Given the description of an element on the screen output the (x, y) to click on. 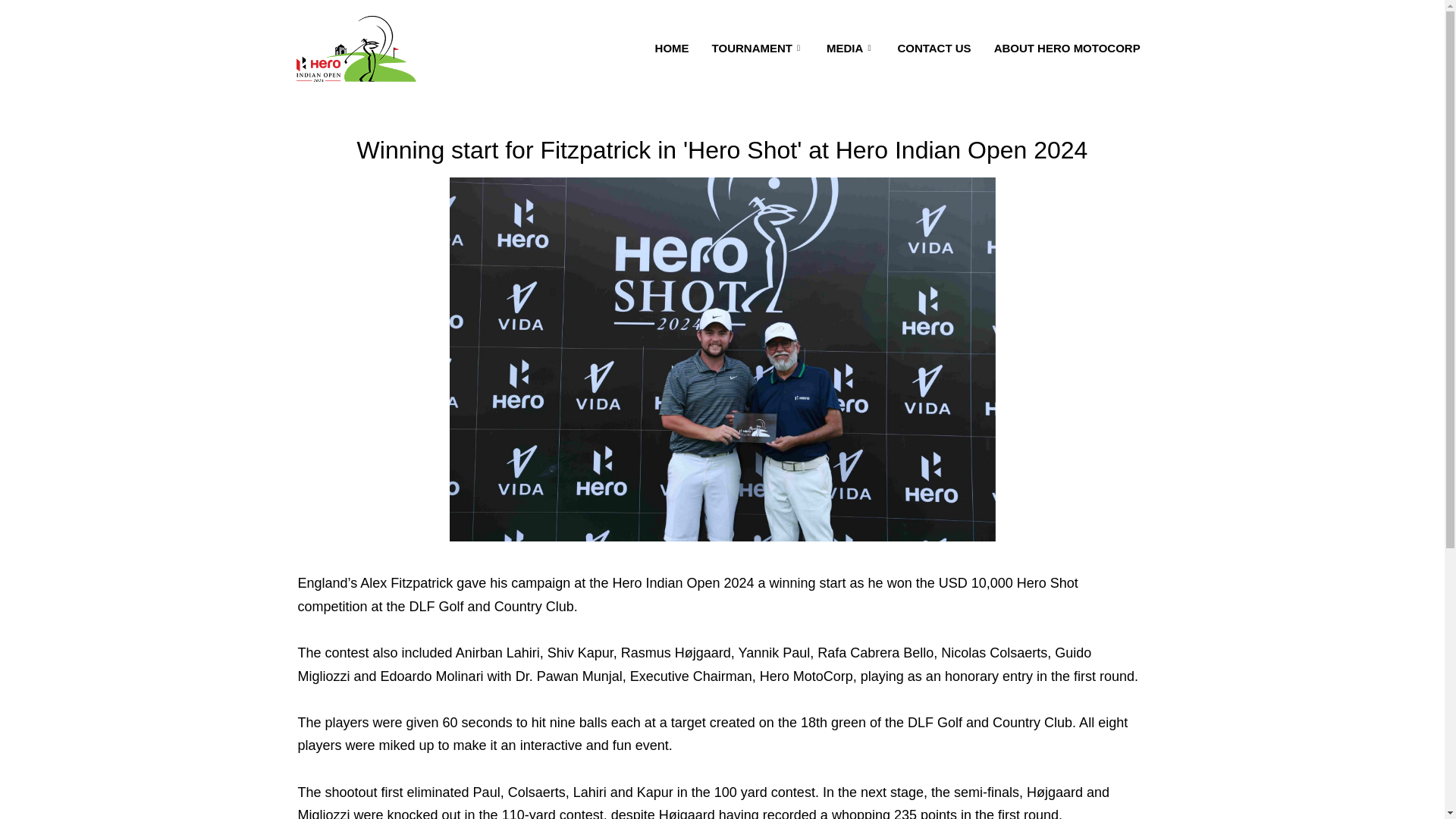
CONTACT US (933, 48)
MEDIA (850, 48)
TOURNAMENT (757, 48)
ABOUT HERO MOTOCORP (1066, 48)
